Given the description of an element on the screen output the (x, y) to click on. 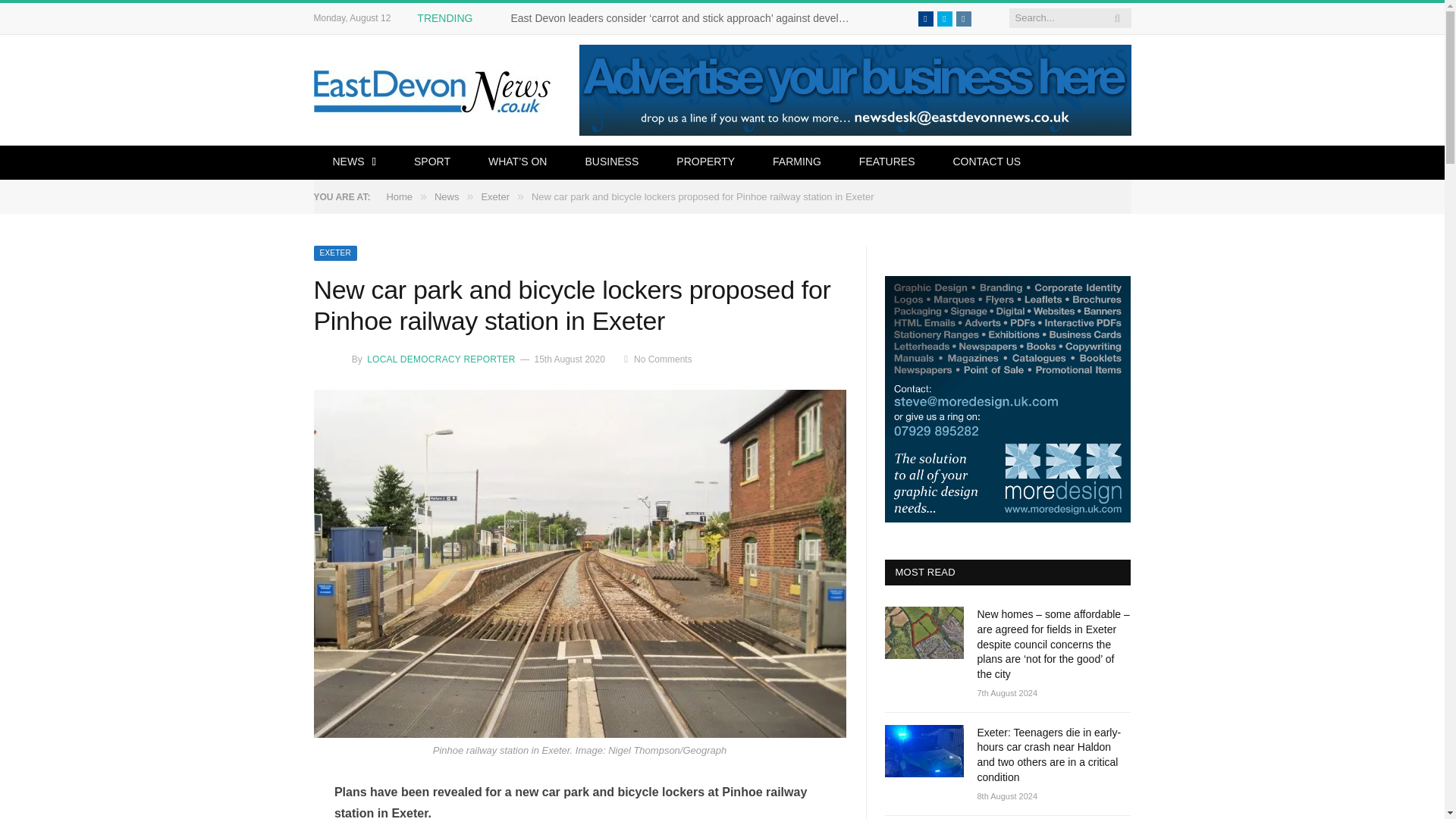
FARMING (797, 162)
CONTACT US (986, 162)
Instagram (963, 18)
Twitter (944, 18)
Instagram (963, 18)
Facebook (925, 18)
BUSINESS (612, 162)
Twitter (944, 18)
East Devon News (433, 89)
